Given the description of an element on the screen output the (x, y) to click on. 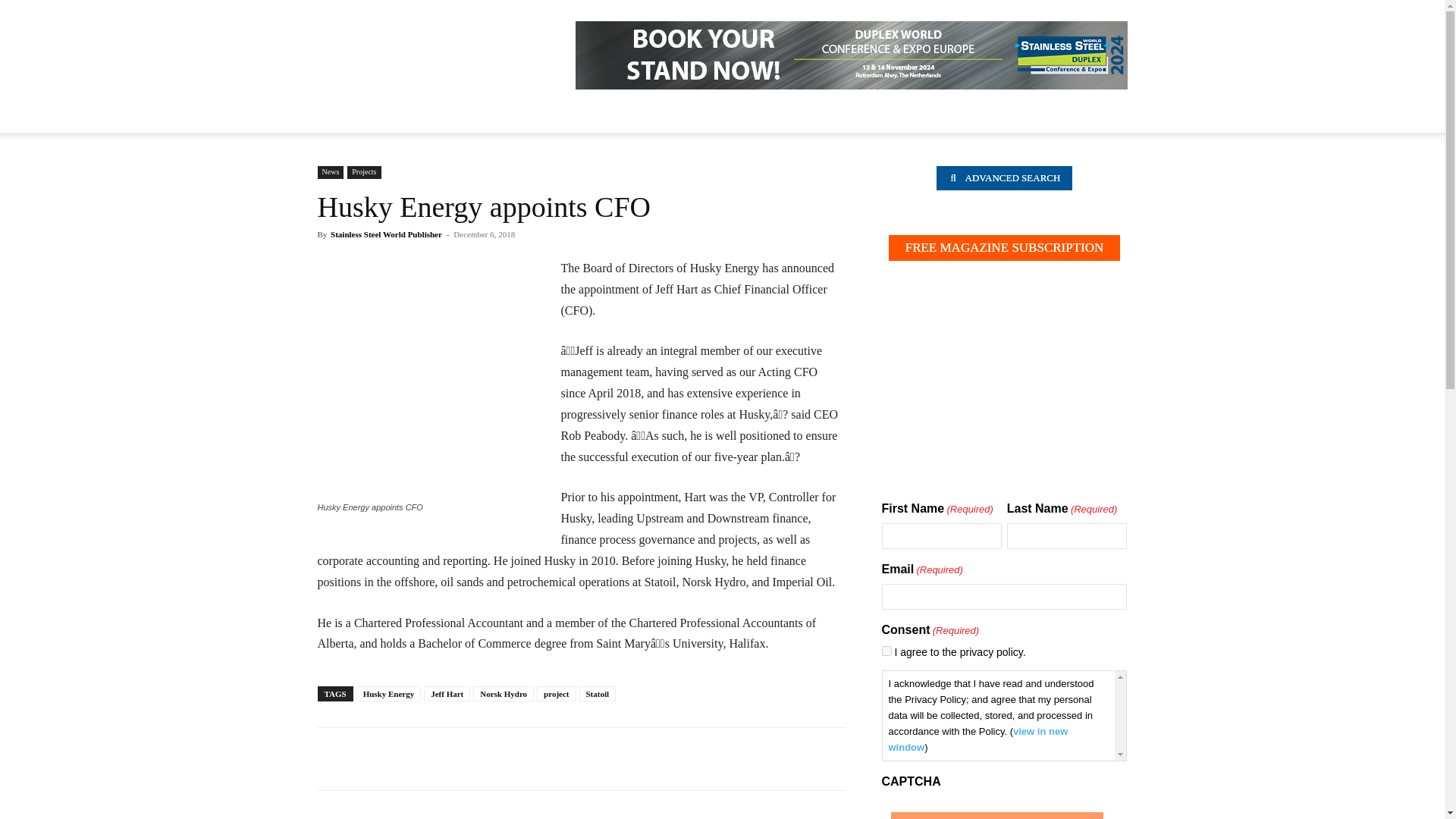
1 (885, 651)
SUBSCRIBE (995, 815)
